Given the description of an element on the screen output the (x, y) to click on. 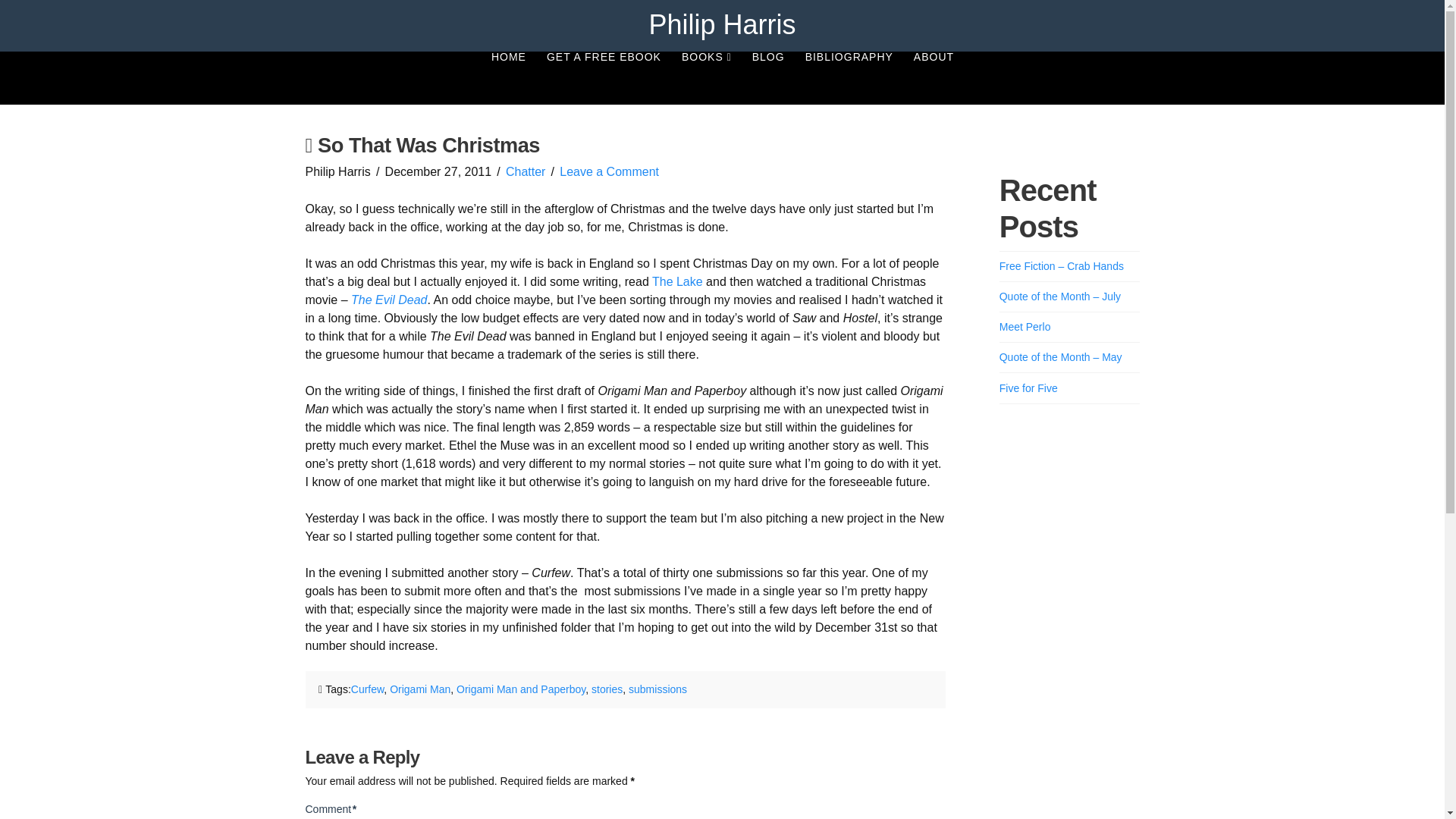
HOME (507, 77)
GET A FREE EBOOK (603, 77)
BIBLIOGRAPHY (848, 77)
Chatter (524, 171)
The Evil Dead (389, 299)
BOOKS (706, 77)
Leave a Comment (609, 171)
ABOUT (932, 77)
Origami Man (419, 689)
Curfew (367, 689)
